Given the description of an element on the screen output the (x, y) to click on. 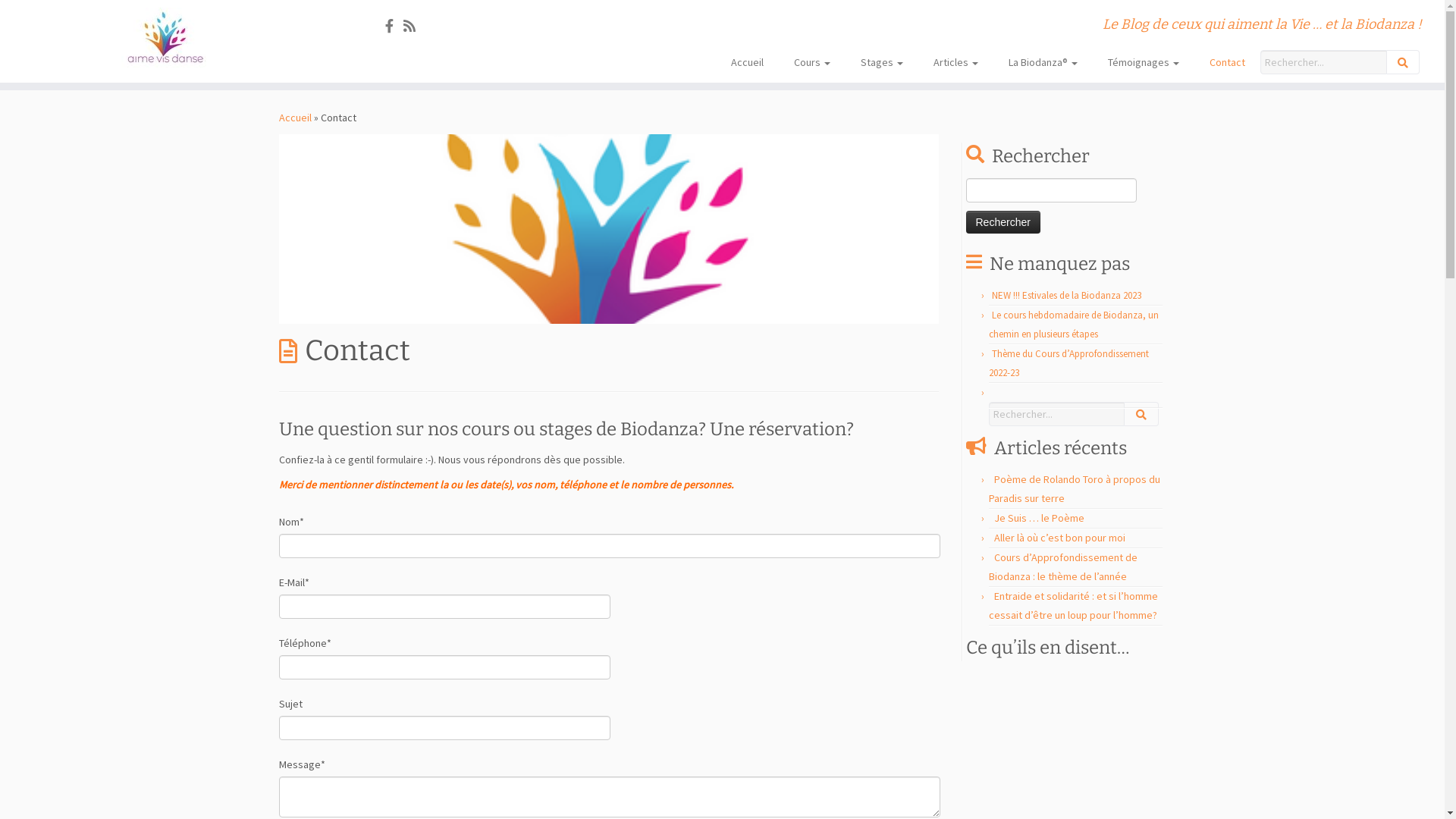
Rechercher Element type: text (1003, 221)
Stages Element type: text (881, 62)
Suivez-nous sur Facebook Element type: hover (394, 25)
Cours Element type: text (811, 62)
Contact Element type: text (1227, 62)
Articles Element type: text (955, 62)
NEW !!! Estivales de la Biodanza 2023 Element type: text (1066, 294)
Accueil Element type: text (295, 117)
Abonnez-vous au flux rss Element type: hover (414, 25)
Accueil Element type: text (746, 62)
